Given the description of an element on the screen output the (x, y) to click on. 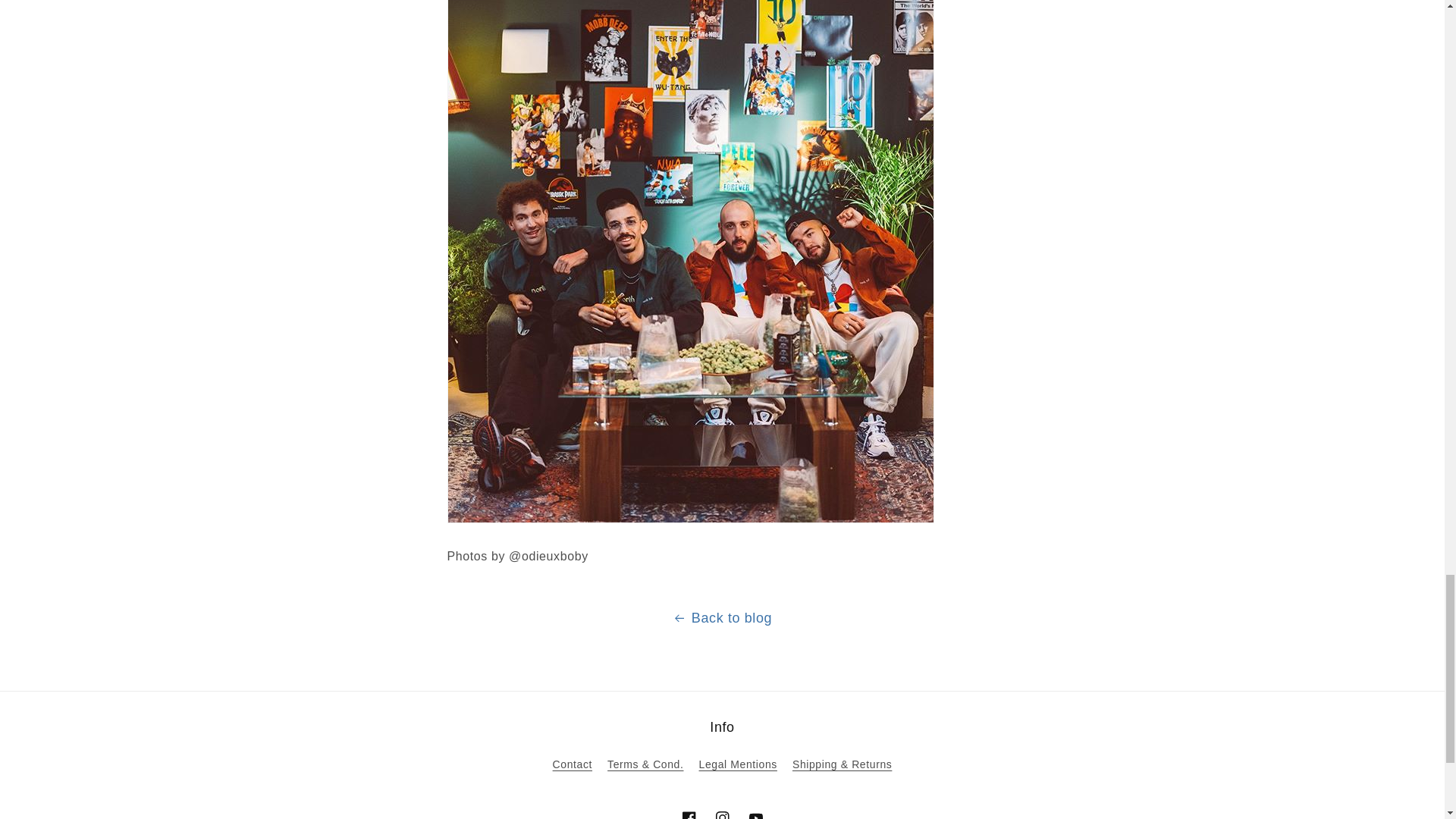
Instagram (721, 810)
YouTube (754, 810)
Legal Mentions (737, 764)
Facebook (687, 810)
Contact (572, 766)
